Given the description of an element on the screen output the (x, y) to click on. 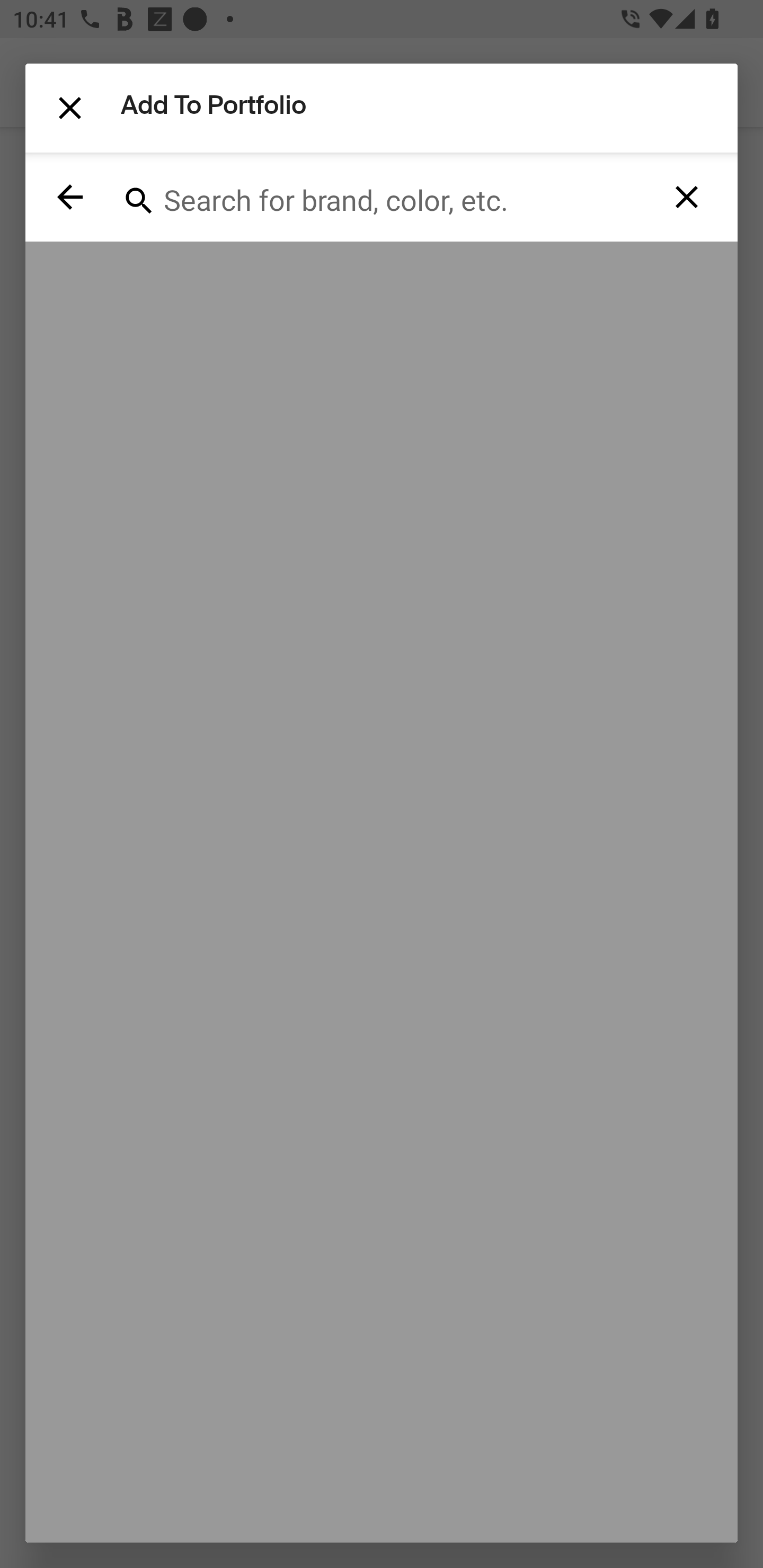
Clear query (686, 196)
   Search for brand, color, etc. (374, 196)
